Given the description of an element on the screen output the (x, y) to click on. 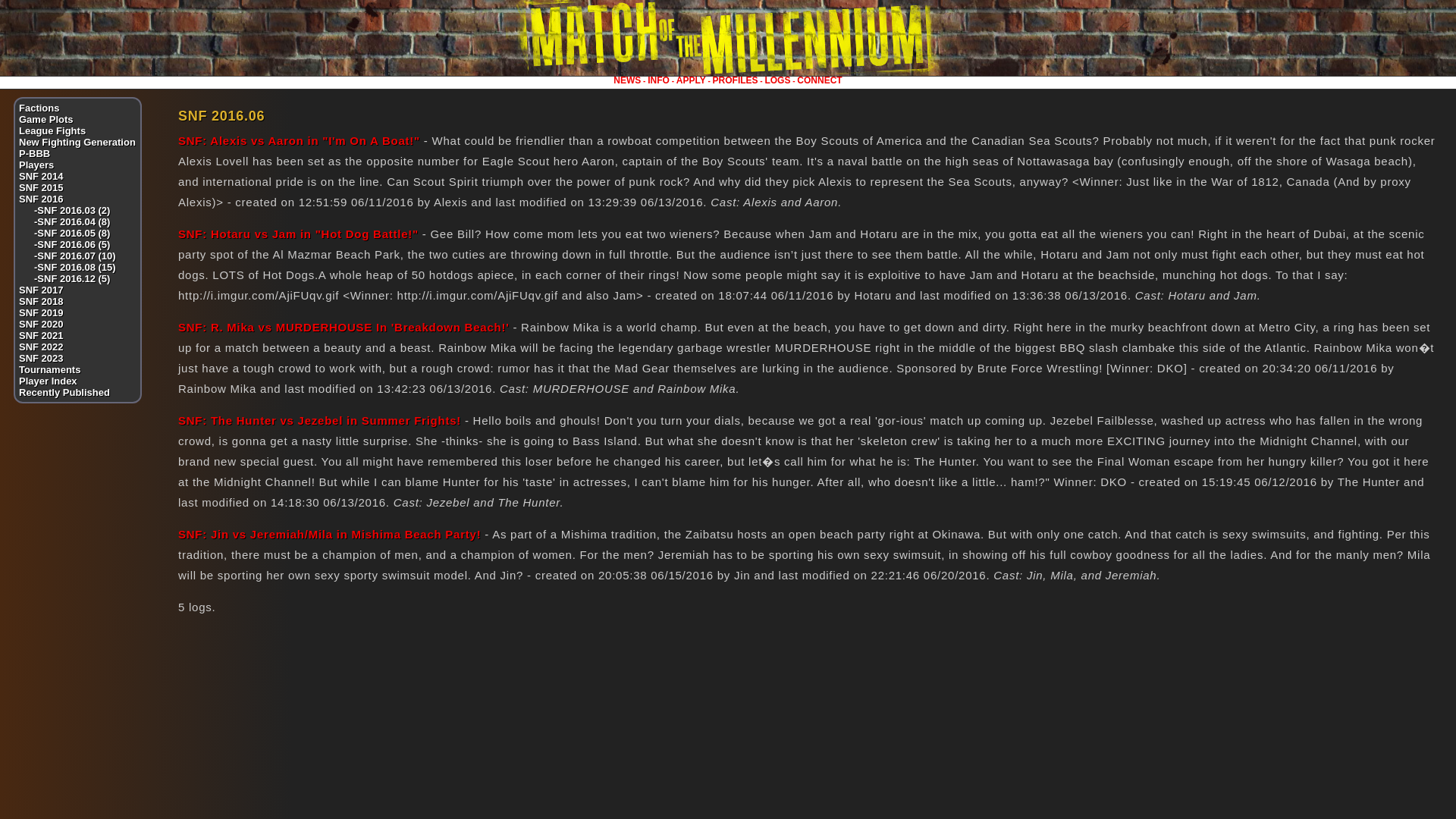
PROFILES (735, 80)
LOGS (777, 80)
NEWS (626, 80)
APPLY (691, 80)
INFO (658, 80)
CONNECT (818, 80)
